Given the description of an element on the screen output the (x, y) to click on. 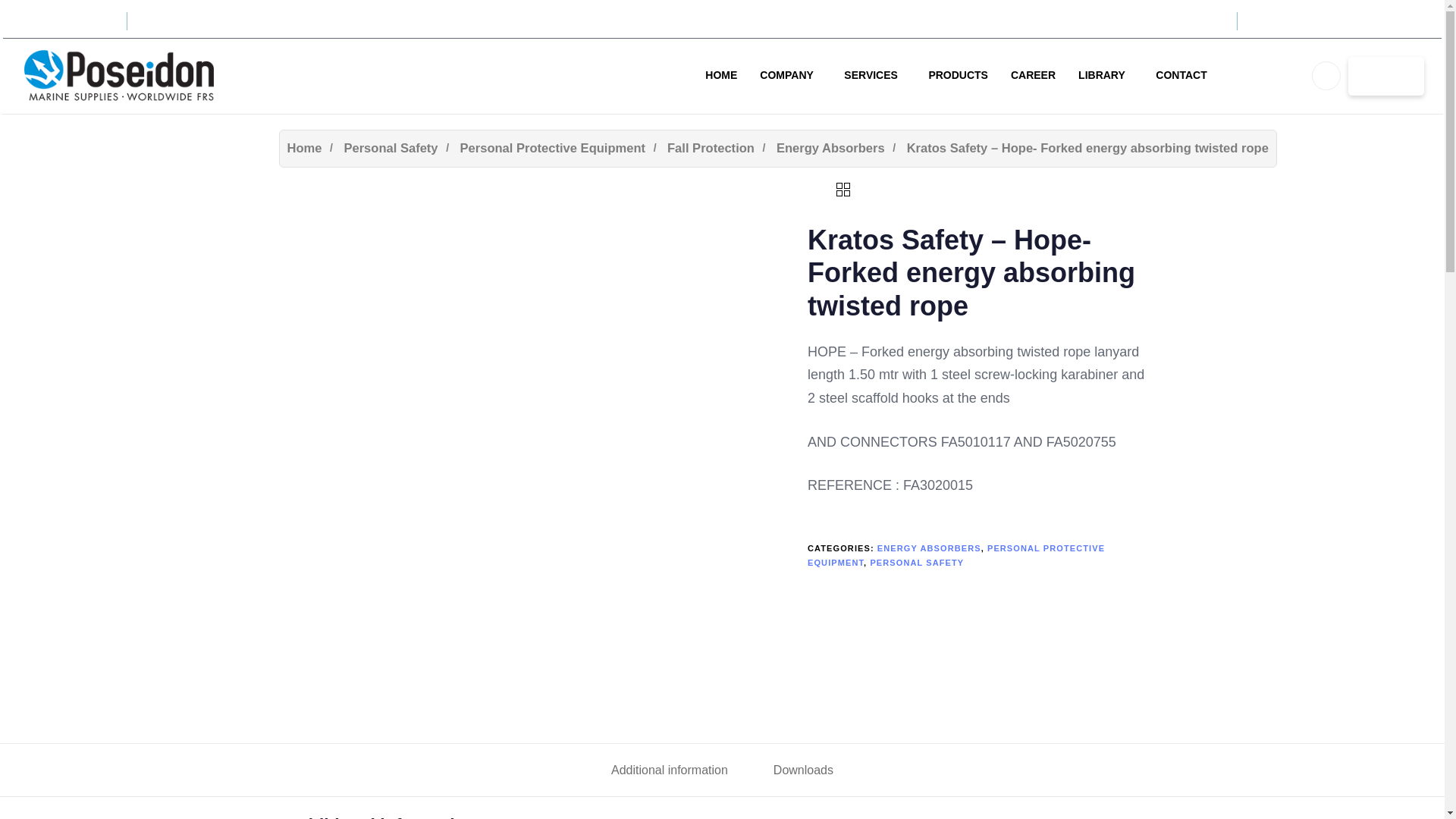
6-8 Almiridos Str, Piraeus, Greece (1330, 21)
LIBRARY (1105, 75)
COMPANY (790, 75)
PRODUCTS (957, 75)
CAREER (1032, 75)
SERVICES (874, 75)
